Given the description of an element on the screen output the (x, y) to click on. 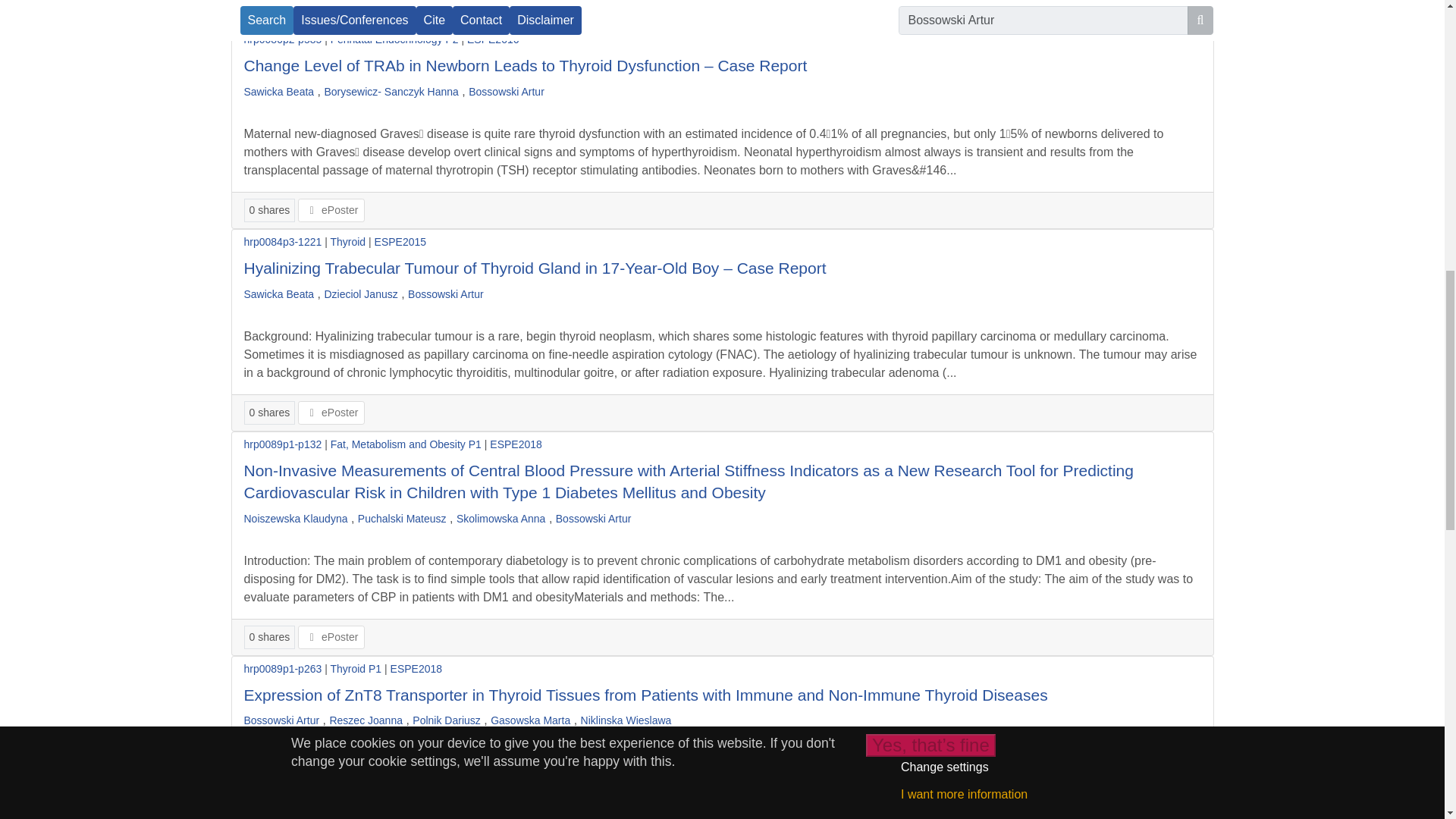
ePoster (331, 9)
